Given the description of an element on the screen output the (x, y) to click on. 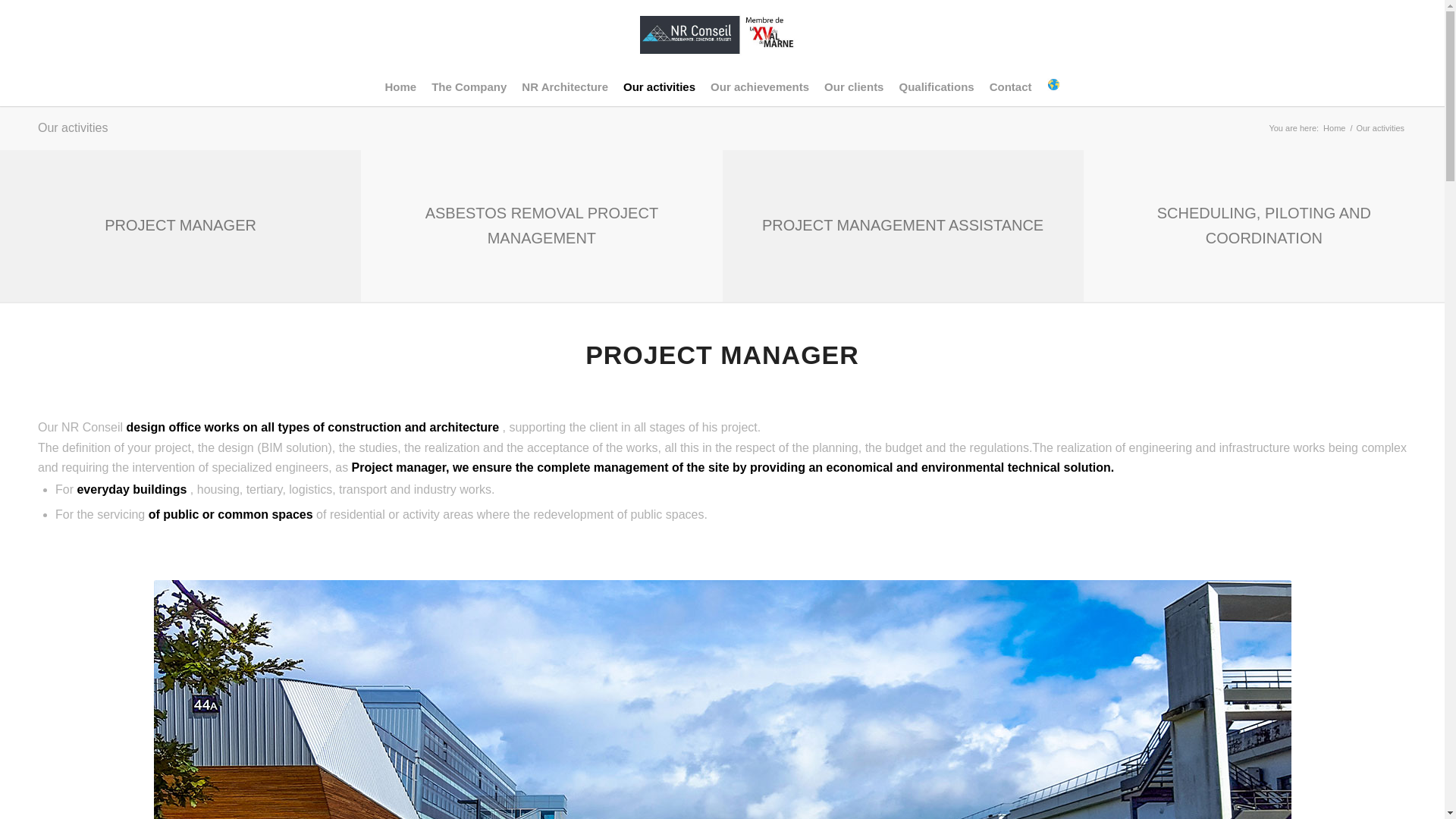
Home (400, 86)
Our clients (853, 86)
SCHEDULING, PILOTING AND COORDINATION (1264, 225)
Our achievements (759, 86)
ASBESTOS REMOVAL PROJECT MANAGEMENT (541, 225)
The Company (468, 86)
NR Architecture (564, 86)
PROJECT MANAGER (180, 225)
PROJECT MANAGEMENT ASSISTANCE (902, 225)
Our activities (659, 86)
